Given the description of an element on the screen output the (x, y) to click on. 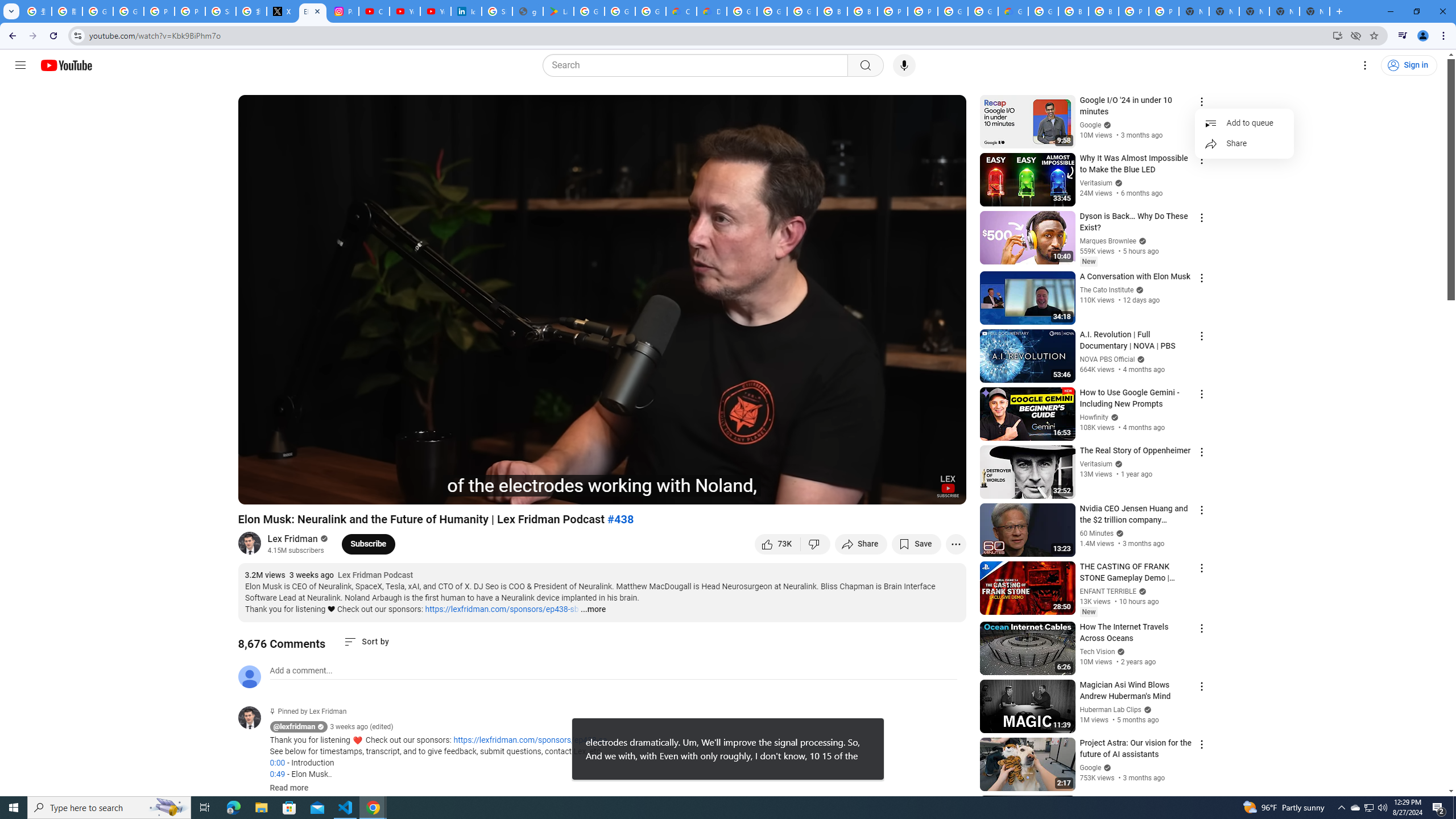
https://lexfridman.com/sponsors/ep438-sa (529, 740)
...more (592, 609)
Guide (20, 65)
Channel watermark (947, 486)
Install YouTube (1336, 35)
Next (SHIFT+n) (284, 490)
Privacy Help Center - Policies Help (158, 11)
Add to queue (1243, 123)
Channel watermark (947, 486)
